Given the description of an element on the screen output the (x, y) to click on. 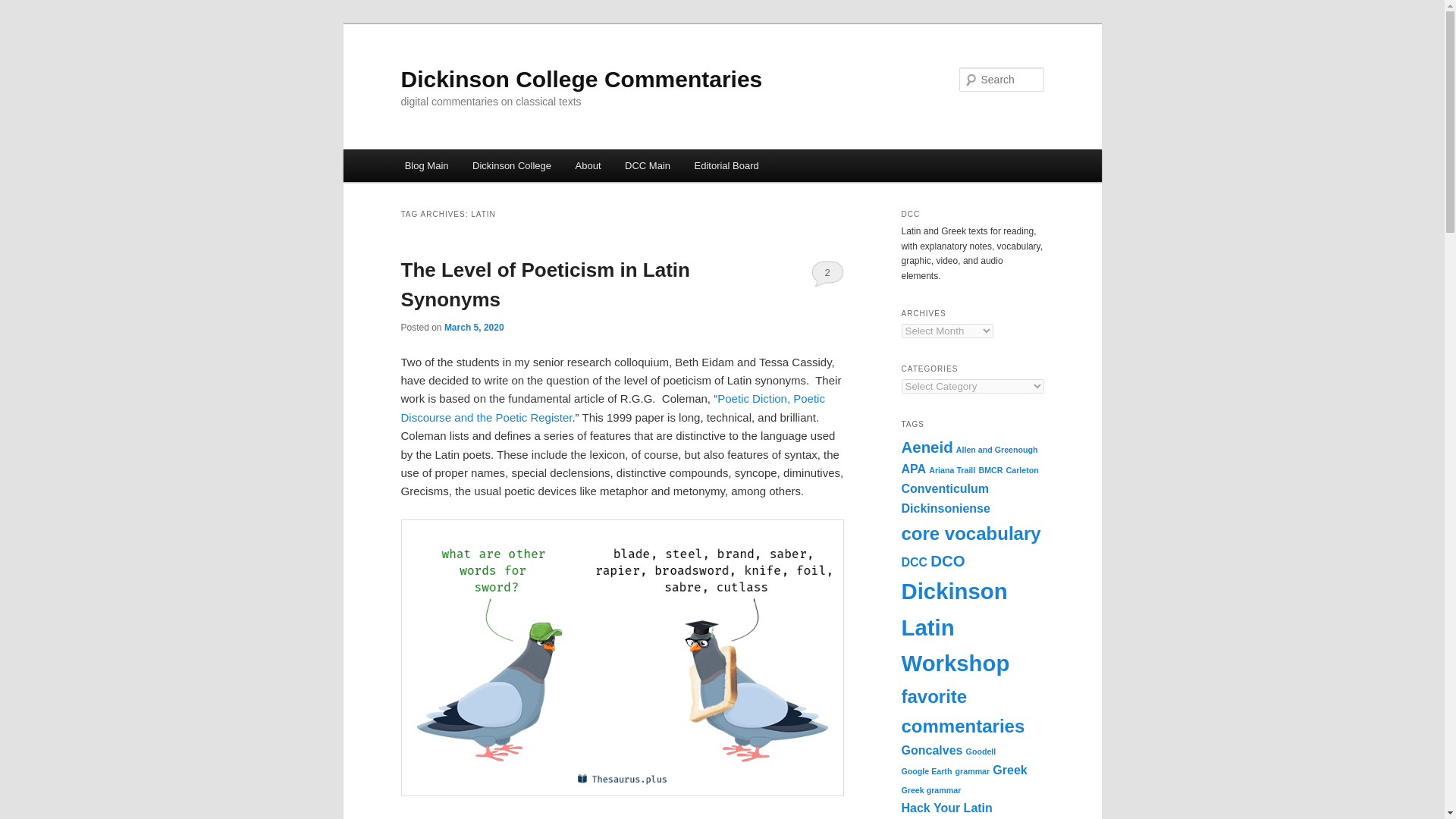
The Level of Poeticism in Latin Synonyms (544, 284)
Blog Main (426, 165)
About (587, 165)
Search (24, 8)
Poetic Diction, Poetic Discourse and the Poetic Register (612, 407)
DCC Main (646, 165)
Dickinson College (511, 165)
Dickinson College Commentaries (580, 78)
March 5, 2020 (473, 327)
2 (827, 272)
